Given the description of an element on the screen output the (x, y) to click on. 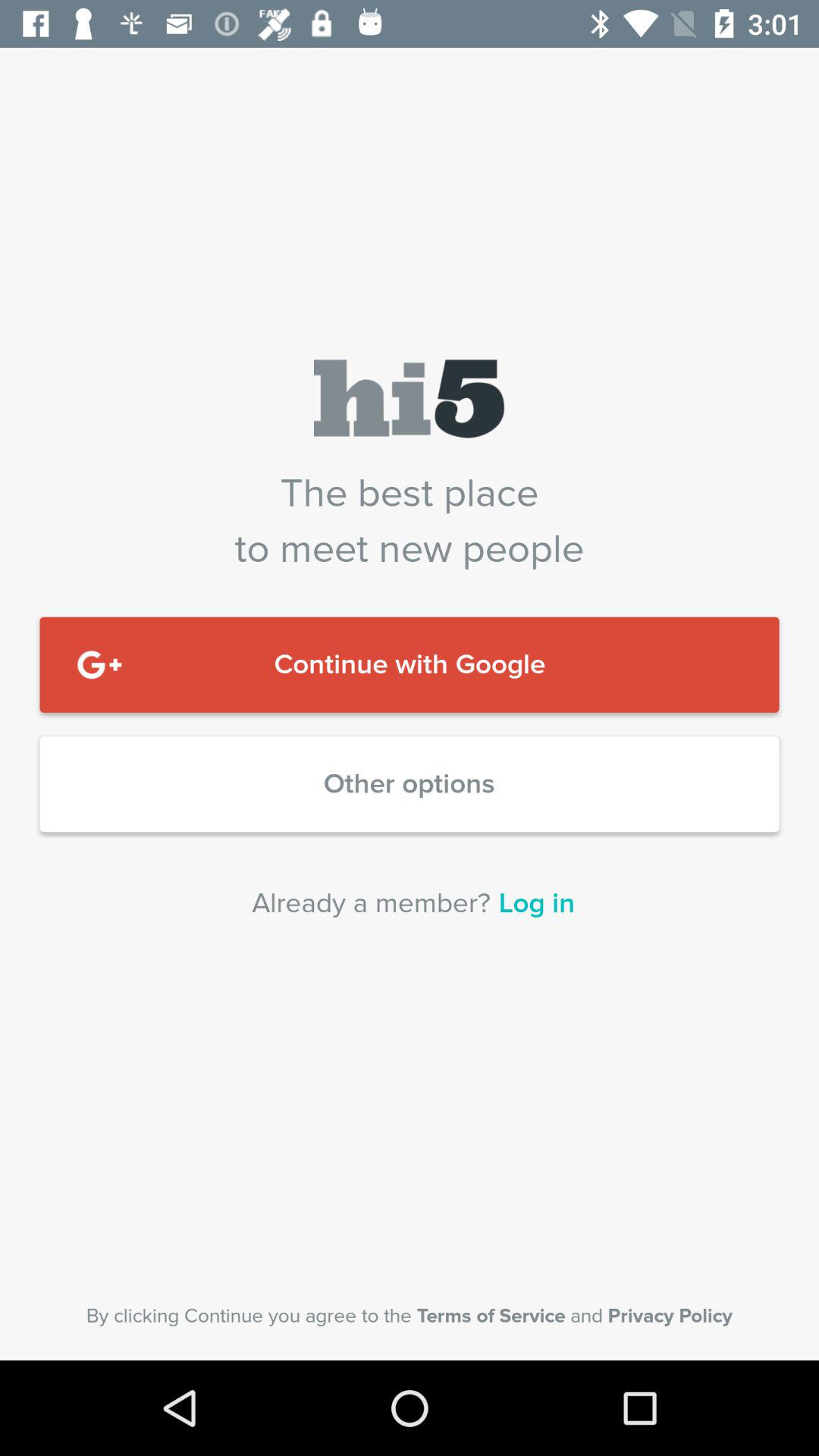
flip to the by clicking continue icon (409, 1316)
